Given the description of an element on the screen output the (x, y) to click on. 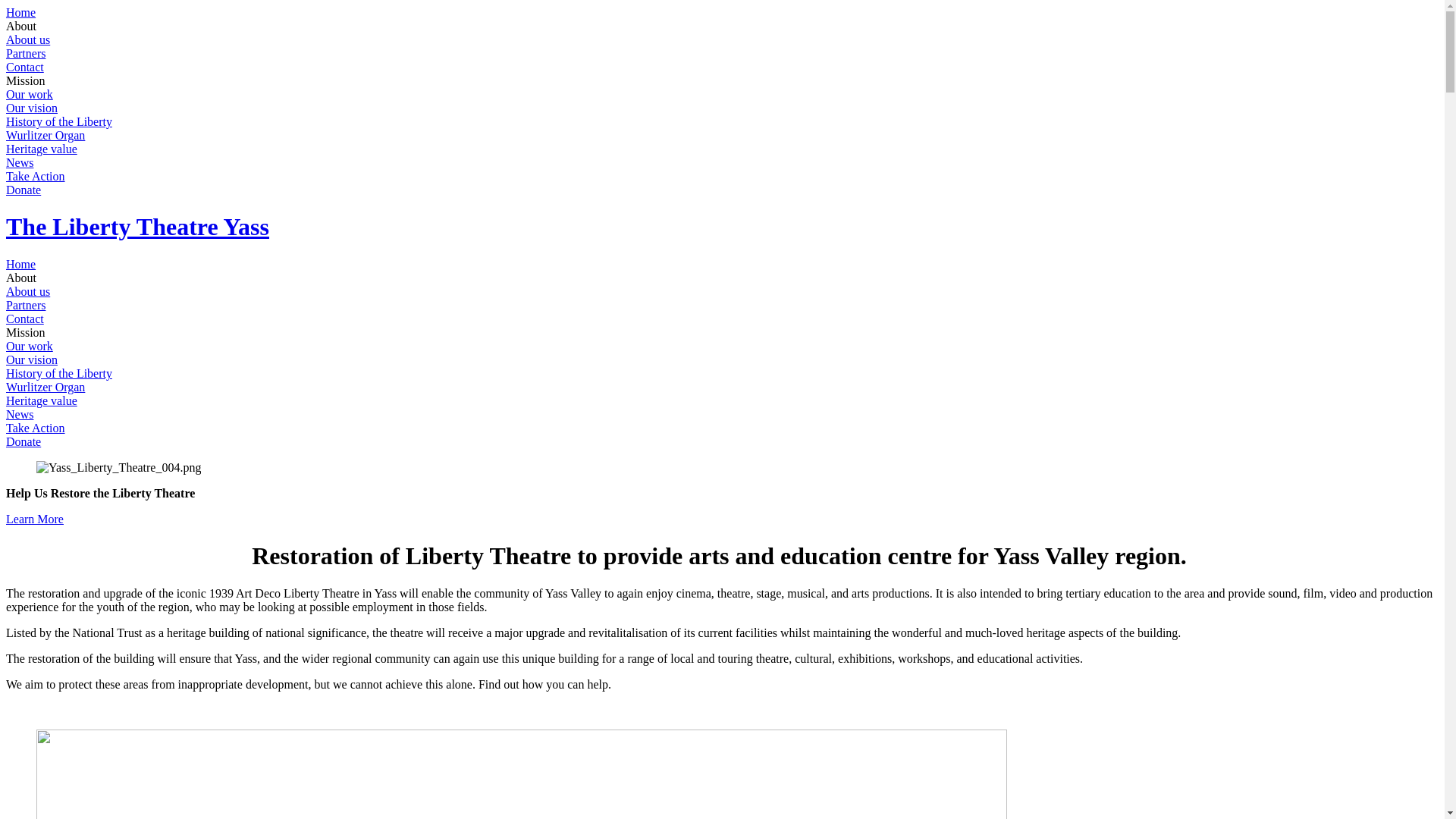
Take Action Element type: text (35, 175)
Wurlitzer Organ Element type: text (45, 134)
History of the Liberty Element type: text (59, 121)
Our work Element type: text (29, 345)
Heritage value Element type: text (41, 400)
Donate Element type: text (23, 189)
Contact Element type: text (24, 318)
Contact Element type: text (24, 66)
History of the Liberty Element type: text (59, 373)
Take Action Element type: text (35, 427)
Our vision Element type: text (31, 359)
About us Element type: text (28, 291)
Learn More Element type: text (34, 518)
Home Element type: text (20, 263)
Wurlitzer Organ Element type: text (45, 386)
News Element type: text (19, 413)
Heritage value Element type: text (41, 148)
About us Element type: text (28, 39)
The Liberty Theatre Yass Element type: text (137, 226)
Our vision Element type: text (31, 107)
Home Element type: text (20, 12)
Our work Element type: text (29, 93)
News Element type: text (19, 162)
Donate Element type: text (23, 441)
Partners Element type: text (25, 53)
Partners Element type: text (25, 304)
